Given the description of an element on the screen output the (x, y) to click on. 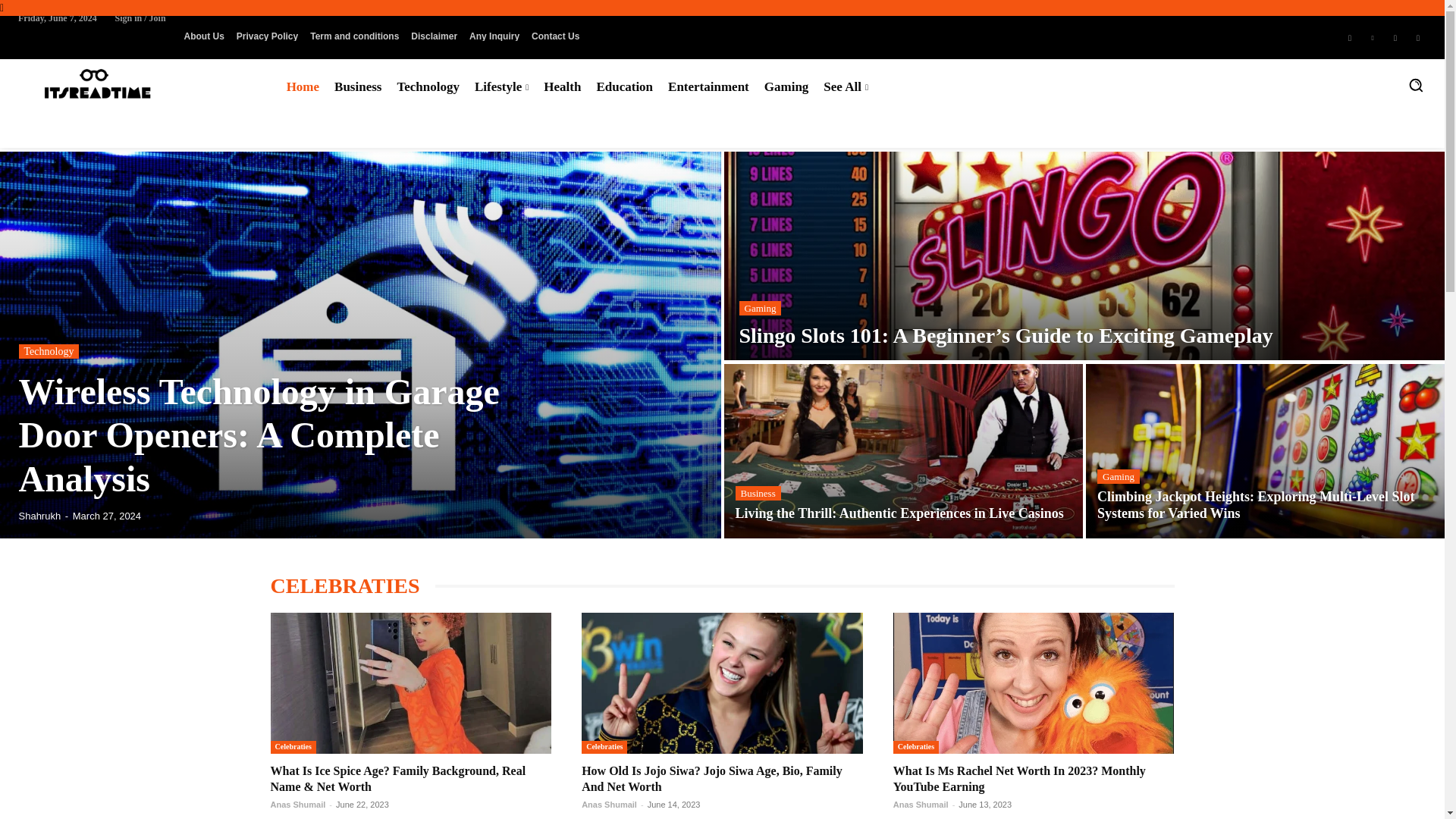
Disclaimer (433, 35)
Privacy Policy (266, 35)
Tumblr (1395, 36)
Twitter (1417, 36)
Business (357, 86)
Technology (427, 86)
Contact Us (555, 35)
Any Inquiry (493, 35)
Pinterest (1372, 36)
Home (302, 86)
Living the Thrill: Authentic Experiences in Live Casinos (903, 450)
About Us (203, 35)
Facebook (1349, 36)
Living the Thrill: Authentic Experiences in Live Casinos (899, 513)
